Given the description of an element on the screen output the (x, y) to click on. 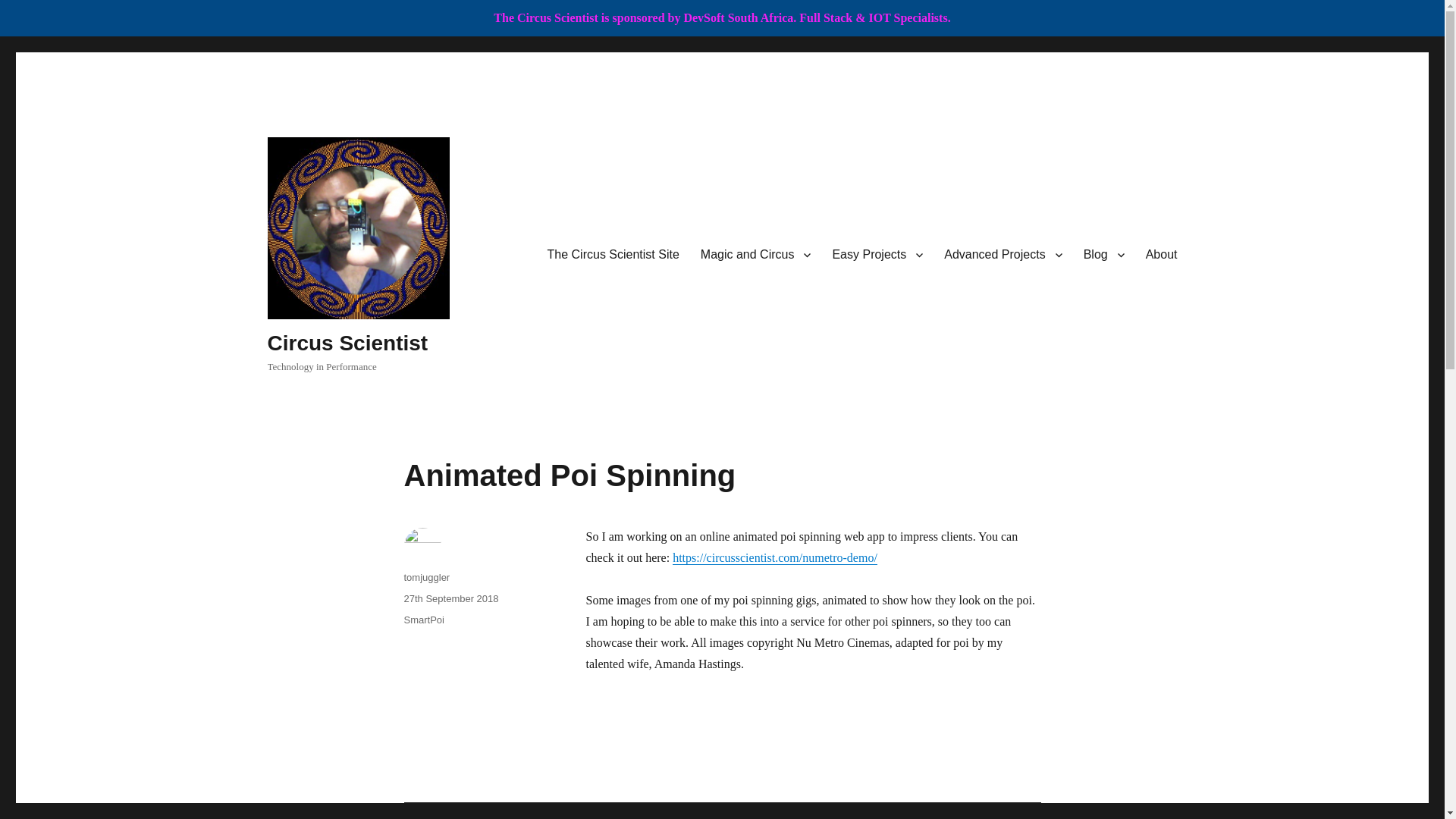
Magic and Circus (756, 255)
Circus Scientist (347, 342)
The Circus Scientist Site (613, 255)
Easy Projects (877, 255)
Advanced Projects (1002, 255)
